Given the description of an element on the screen output the (x, y) to click on. 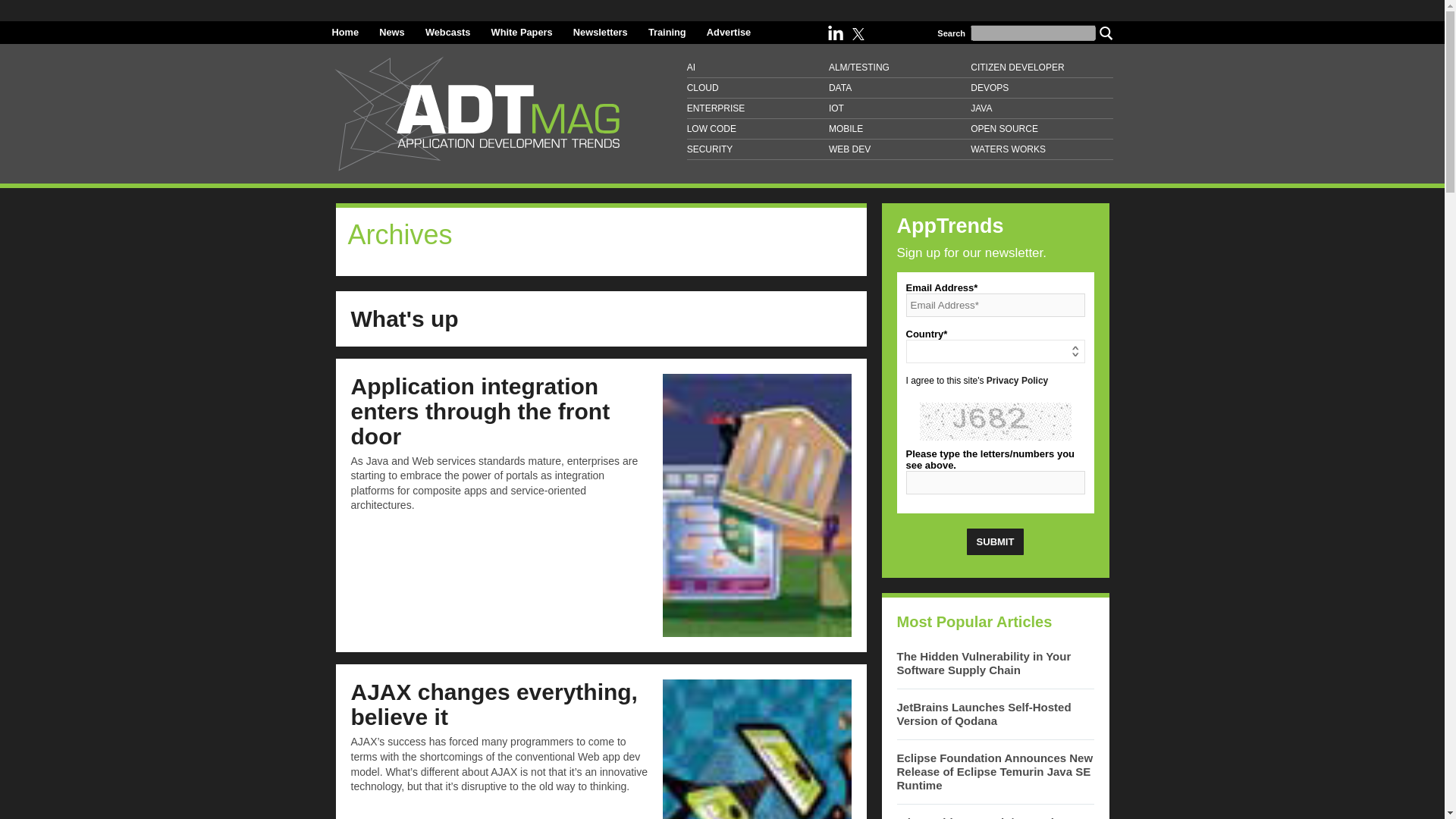
Submit (995, 541)
SECURITY (757, 149)
DATA (899, 87)
News (391, 31)
Home (345, 31)
Training (666, 31)
OPEN SOURCE (1041, 128)
WEB DEV (899, 149)
CITIZEN DEVELOPER (1041, 67)
Newsletters (600, 31)
LOW CODE (757, 128)
Webcasts (447, 31)
MOBILE (899, 128)
WATERS WORKS (1041, 149)
JAVA (1041, 108)
